Given the description of an element on the screen output the (x, y) to click on. 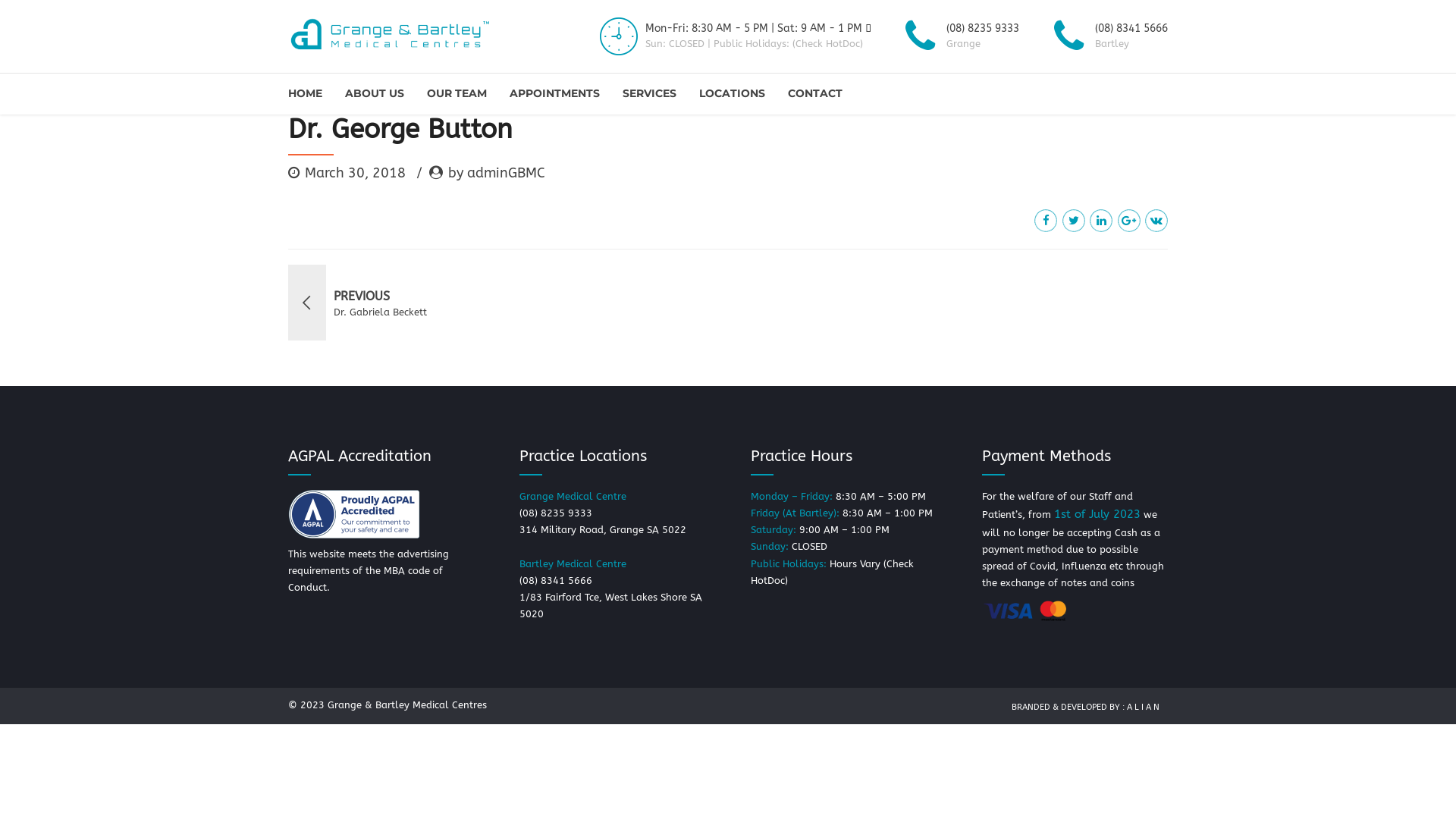
(08) 8341 5666 Element type: text (555, 580)
(08) 8235 9333
Grange Element type: text (958, 36)
ABOUT US Element type: text (374, 93)
PREVIOUS
Dr. Gabriela Beckett Element type: text (502, 302)
LOCATIONS Element type: text (732, 93)
by adminGBMC Element type: text (487, 173)
APPOINTMENTS Element type: text (554, 93)
OUR TEAM Element type: text (456, 93)
(08) 8341 5666
Bartley Element type: text (1106, 36)
HOME Element type: text (305, 93)
(08) 8235 9333 Element type: text (555, 512)
BRANDED & DEVELOPED BY : A L I A N Element type: text (1085, 707)
CONTACT Element type: text (814, 93)
SERVICES Element type: text (649, 93)
